Given the description of an element on the screen output the (x, y) to click on. 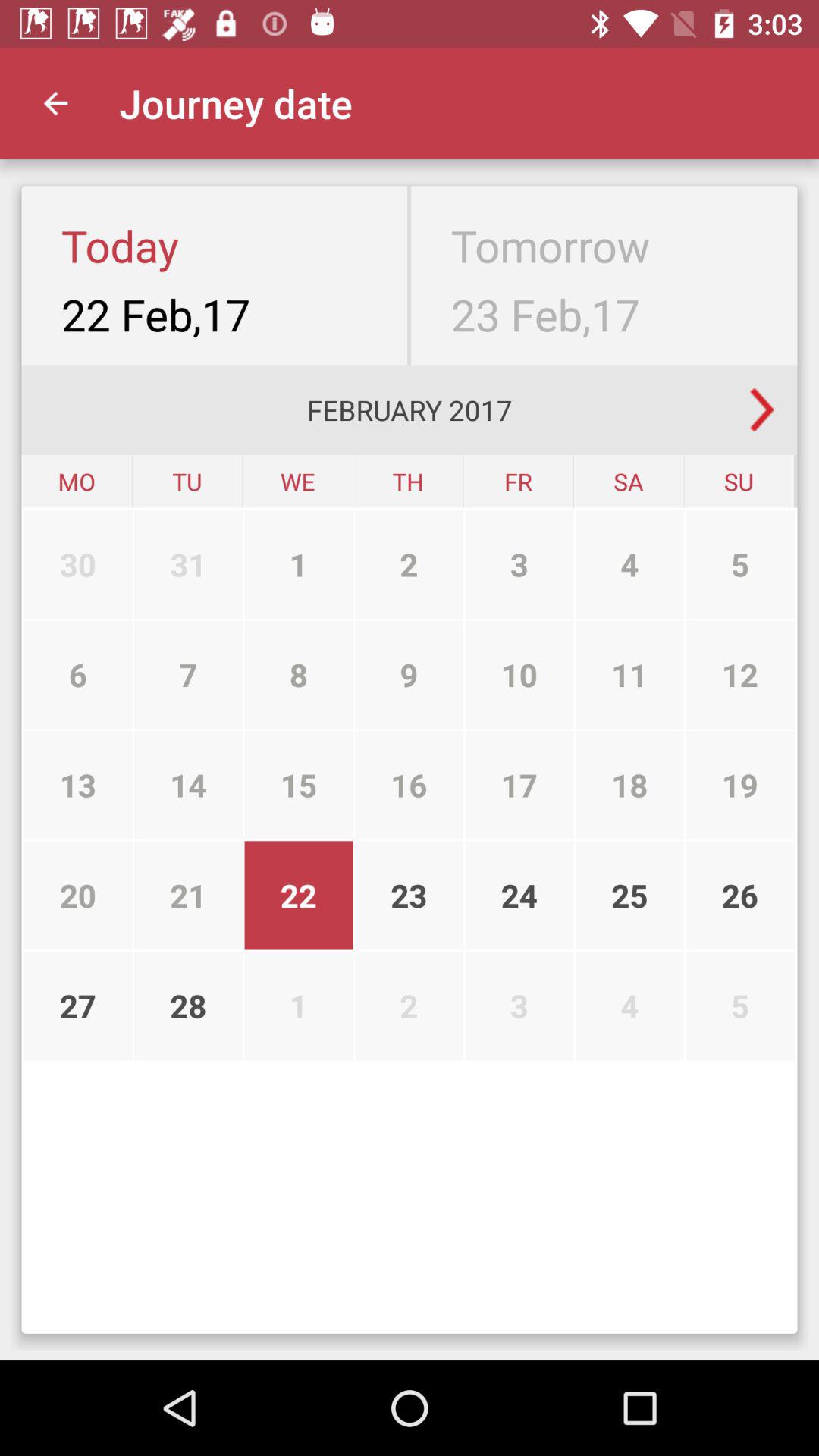
scroll until 30 (77, 564)
